Given the description of an element on the screen output the (x, y) to click on. 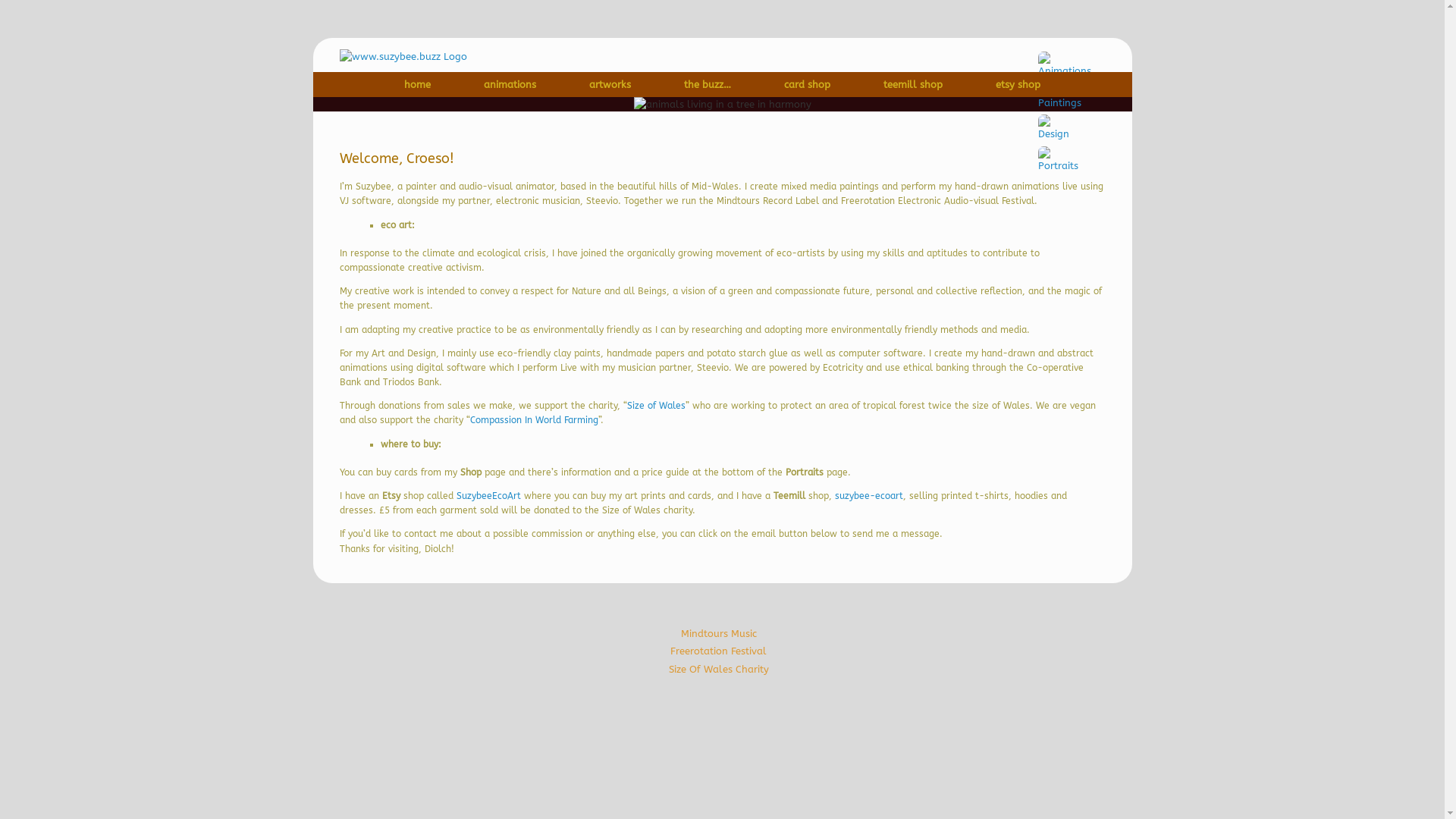
suzybee-ecoart Element type: text (868, 495)
home Element type: text (417, 83)
card shop Element type: text (806, 83)
Paintings Element type: hover (1059, 96)
Design Element type: hover (1053, 128)
SuzybeeEcoArt Element type: text (488, 495)
artworks Element type: text (609, 83)
Freerotation Festival Element type: text (718, 650)
Animations Element type: hover (1064, 65)
Size of Wales Element type: text (655, 405)
teemill shop Element type: text (912, 83)
Portraits Element type: hover (1057, 159)
etsy shop Element type: text (1017, 83)
www.suzybee.buzz Element type: hover (403, 56)
Compassion In World Farming Element type: text (534, 419)
animations Element type: text (509, 83)
Wellbeing Tree Element type: hover (722, 104)
Size Of Wales Charity Element type: text (718, 668)
Mindtours Music Element type: text (718, 633)
